Given the description of an element on the screen output the (x, y) to click on. 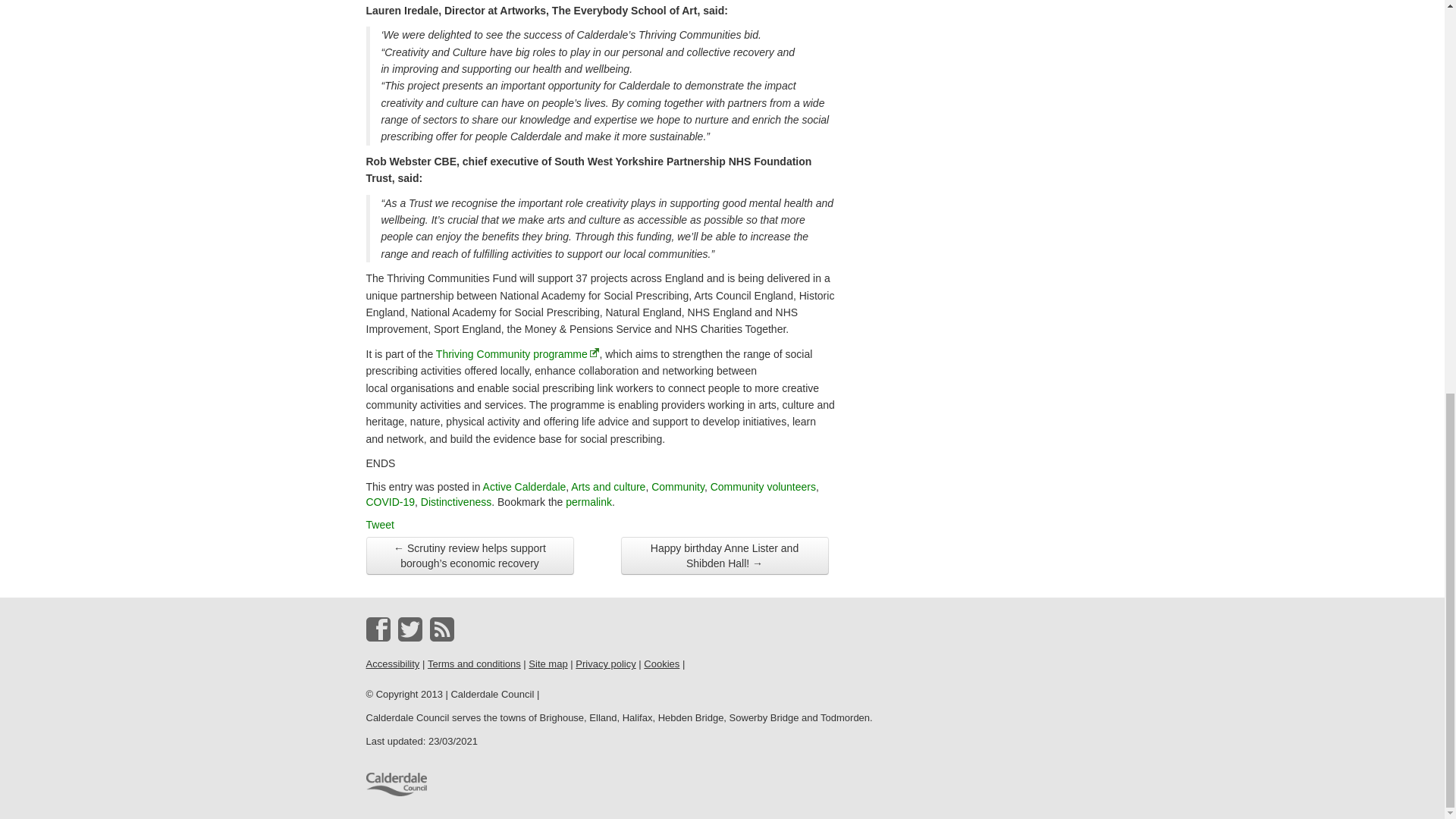
Thriving Community programme (517, 354)
Distinctiveness (456, 501)
Arts and culture (607, 486)
Facebook (377, 629)
Twitter (409, 629)
Active Calderdale (524, 486)
Community (677, 486)
Tweet (379, 524)
Community volunteers (762, 486)
permalink (588, 501)
COVID-19 (389, 501)
RSS (440, 629)
Permalink to Supporting Thriving Communities (588, 501)
